Given the description of an element on the screen output the (x, y) to click on. 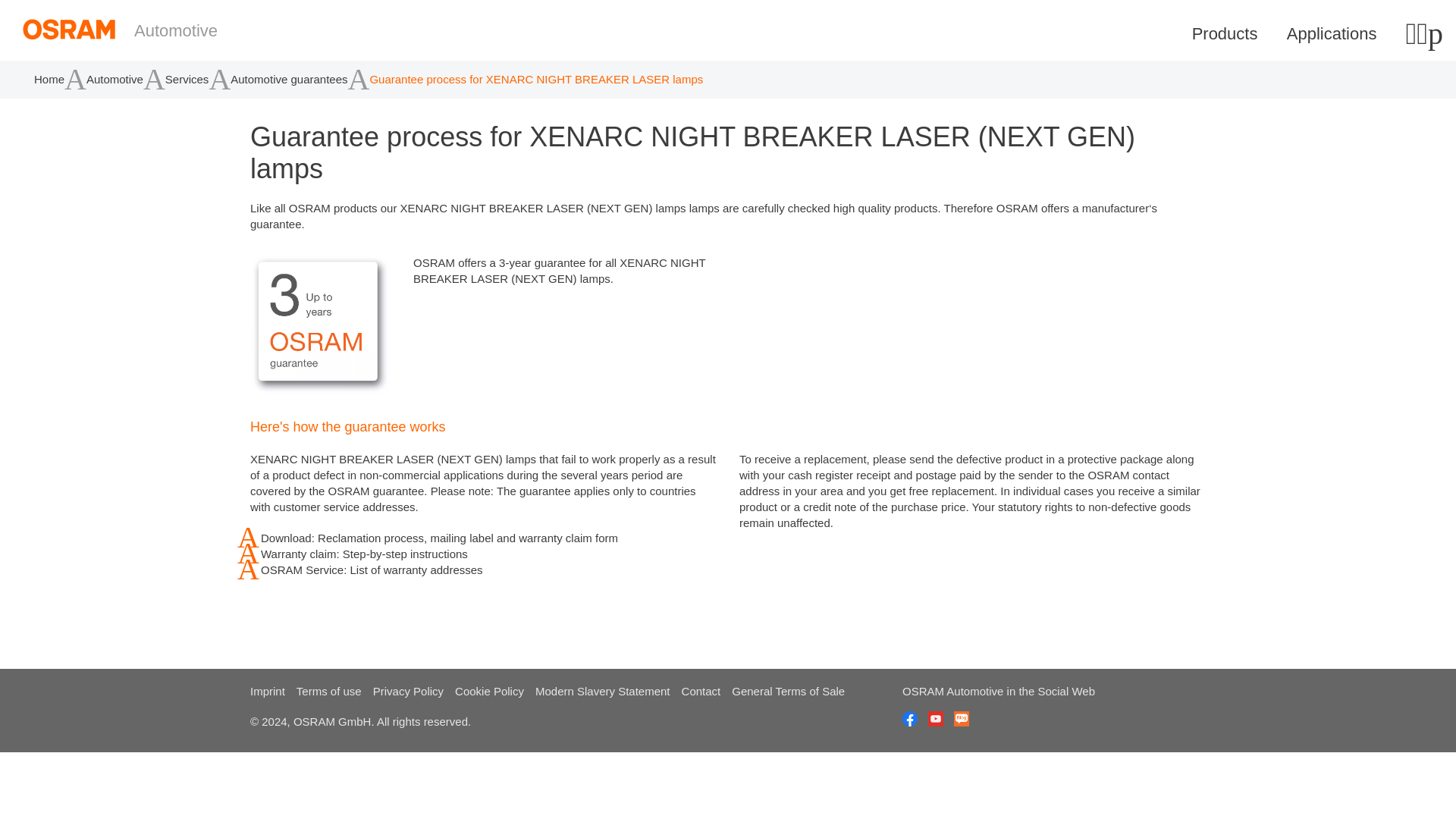
Applications (1338, 33)
Imprint (267, 690)
Warranty claim: Step-by-step instructions (483, 553)
Home (78, 28)
Products (1230, 33)
Cookie Policy (489, 690)
Privacy Policy (408, 690)
OSRAM Service: List of warranty addresses (483, 569)
Products (1230, 33)
Terms of use (329, 690)
Warranty claim: Step-by-step instructions (483, 553)
Terms of use (329, 690)
Contact (700, 690)
